Given the description of an element on the screen output the (x, y) to click on. 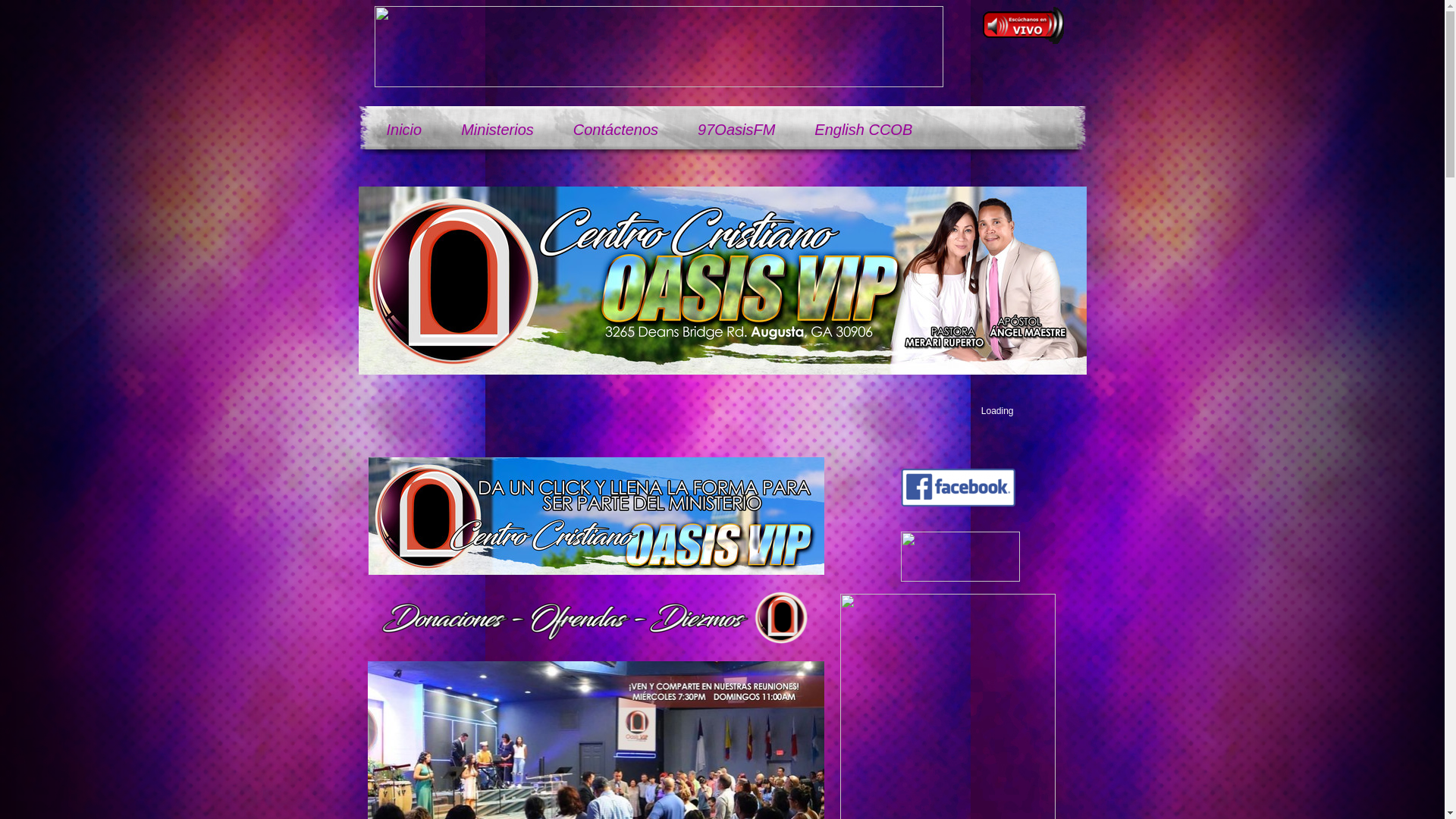
Inicio Element type: text (403, 129)
97OasisFM Element type: text (736, 129)
Ministerios Element type: text (497, 129)
English CCOB Element type: text (863, 129)
